Given the description of an element on the screen output the (x, y) to click on. 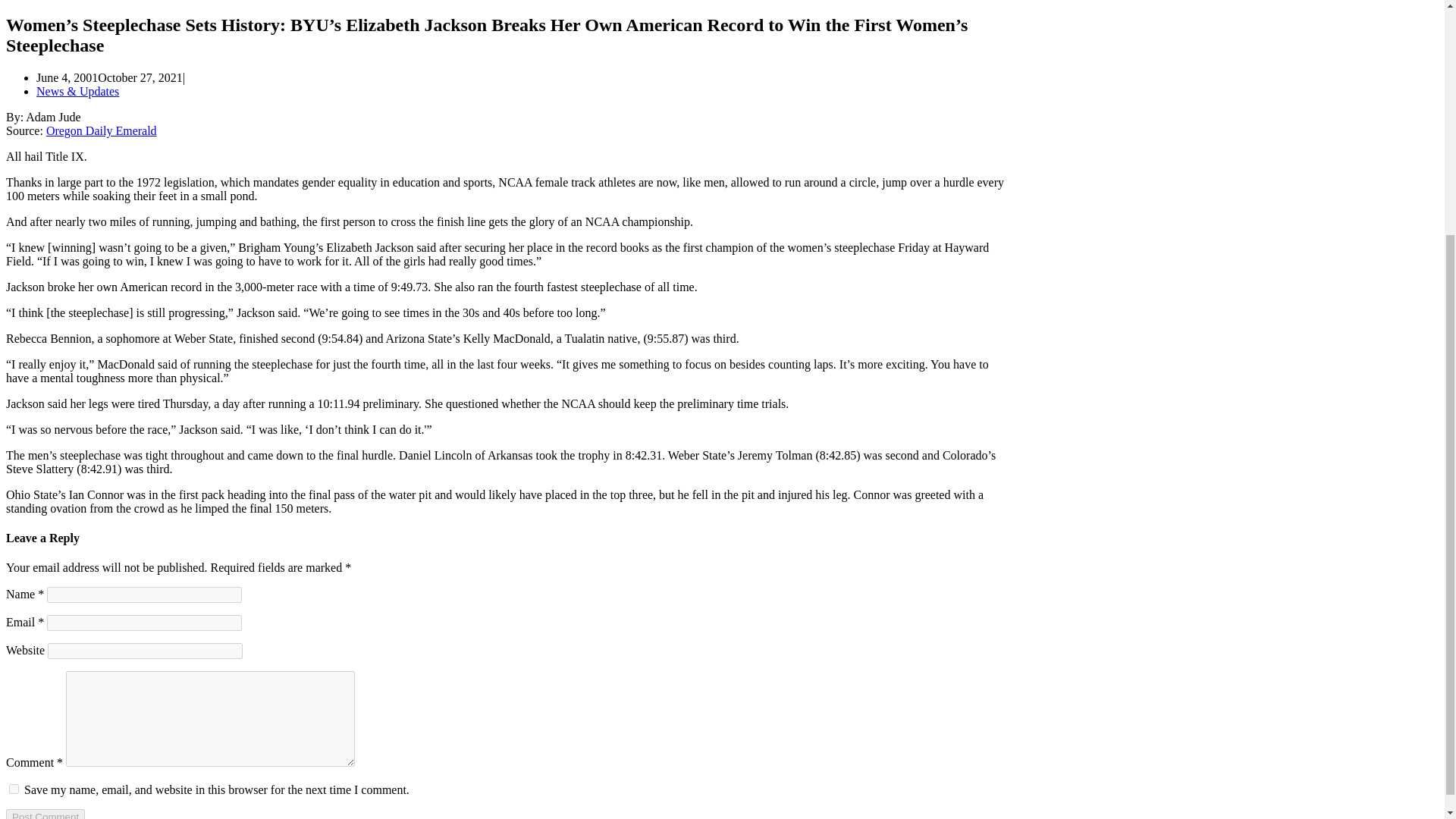
Oregon Daily Emerald (101, 130)
yes (13, 788)
